Given the description of an element on the screen output the (x, y) to click on. 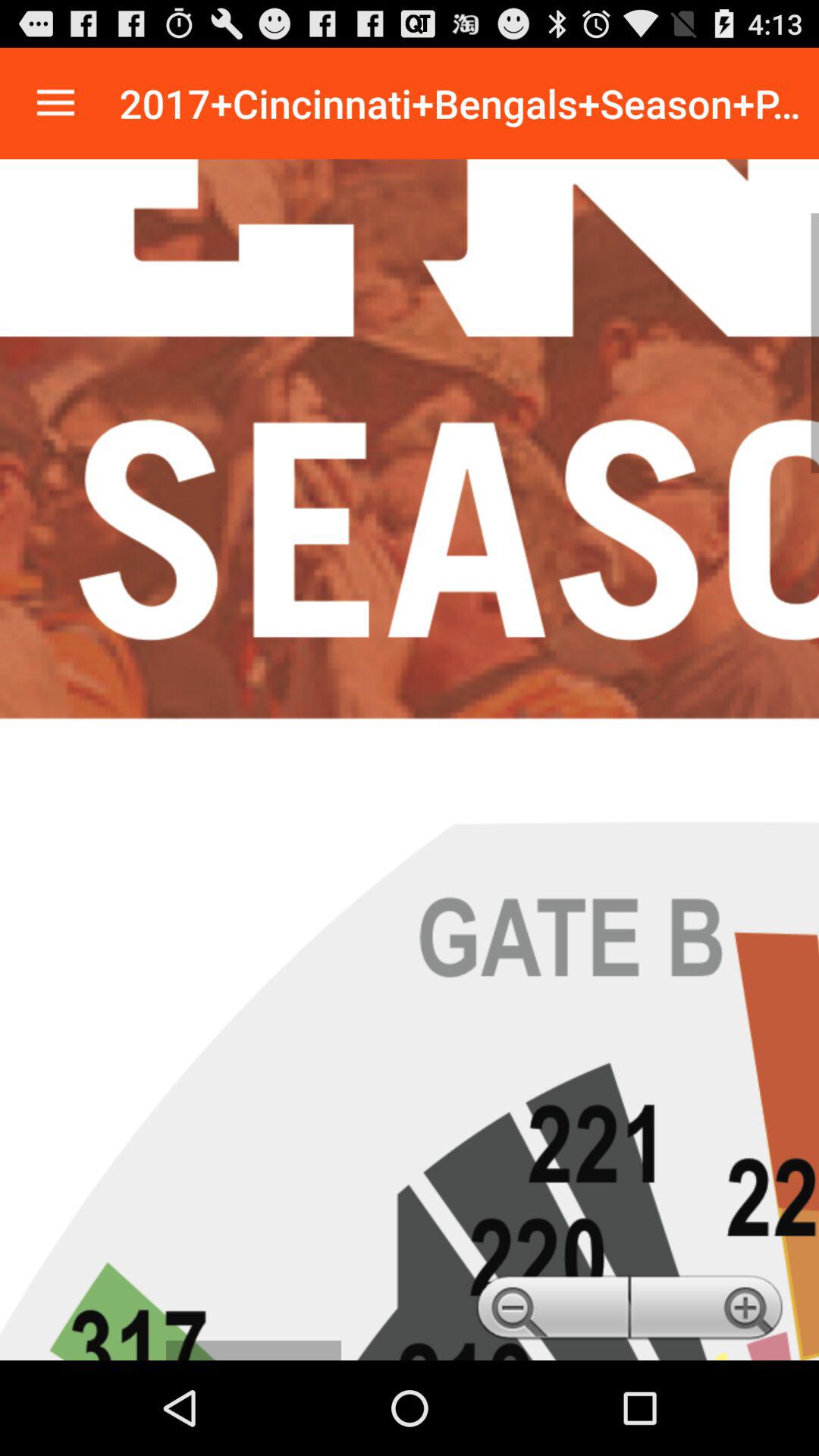
toggle navigation menu (55, 103)
